Given the description of an element on the screen output the (x, y) to click on. 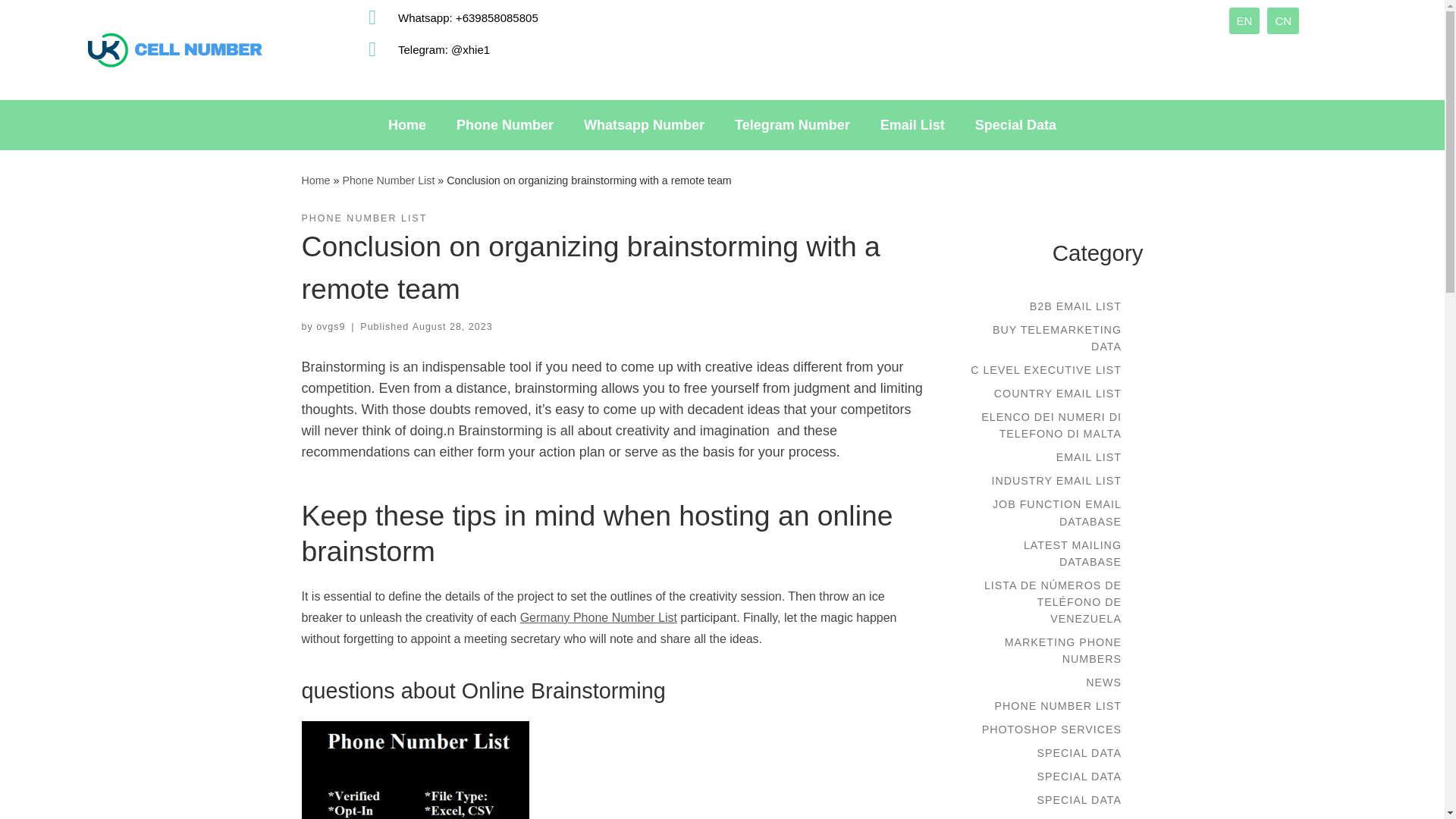
CN (1282, 20)
PHONE NUMBER LIST (364, 218)
Home (315, 180)
ovgs9 (330, 326)
Phone Number List (387, 180)
EN (1244, 20)
Email List (911, 124)
Germany Phone Number List (598, 617)
Phone Number List (387, 180)
Telegram Number (791, 124)
August 28, 2023 (452, 326)
View all posts by ovgs9 (330, 326)
View all posts in Phone Number List (364, 218)
3:21 am (452, 326)
Home (406, 124)
